Given the description of an element on the screen output the (x, y) to click on. 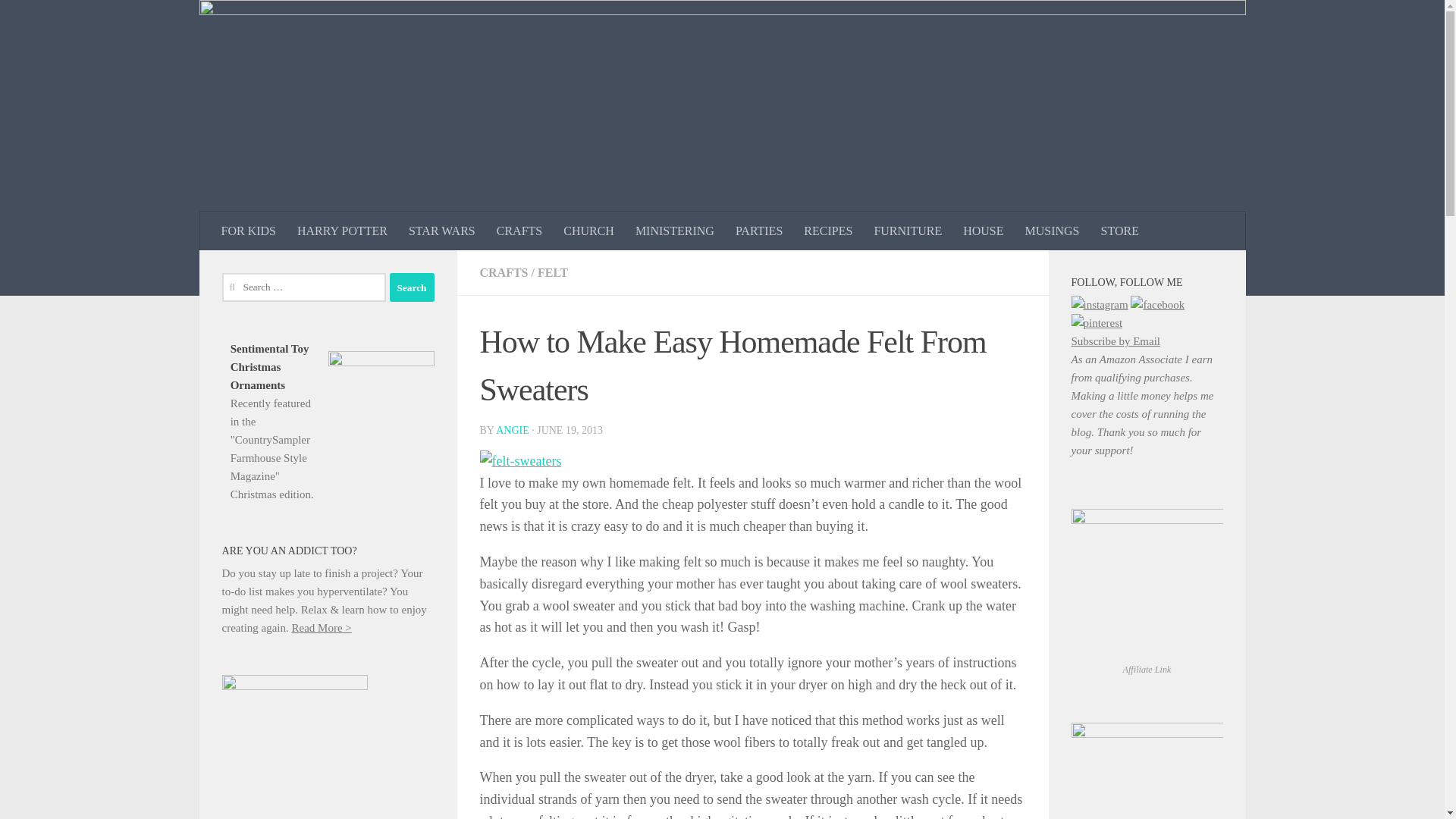
STAR WARS (441, 231)
HOUSE (982, 231)
Posts by Angie (512, 430)
FURNITURE (907, 231)
STORE (1120, 231)
RECIPES (828, 231)
CRAFTS (503, 272)
CRAFTS (519, 231)
PARTIES (759, 231)
ANGIE (512, 430)
